Given the description of an element on the screen output the (x, y) to click on. 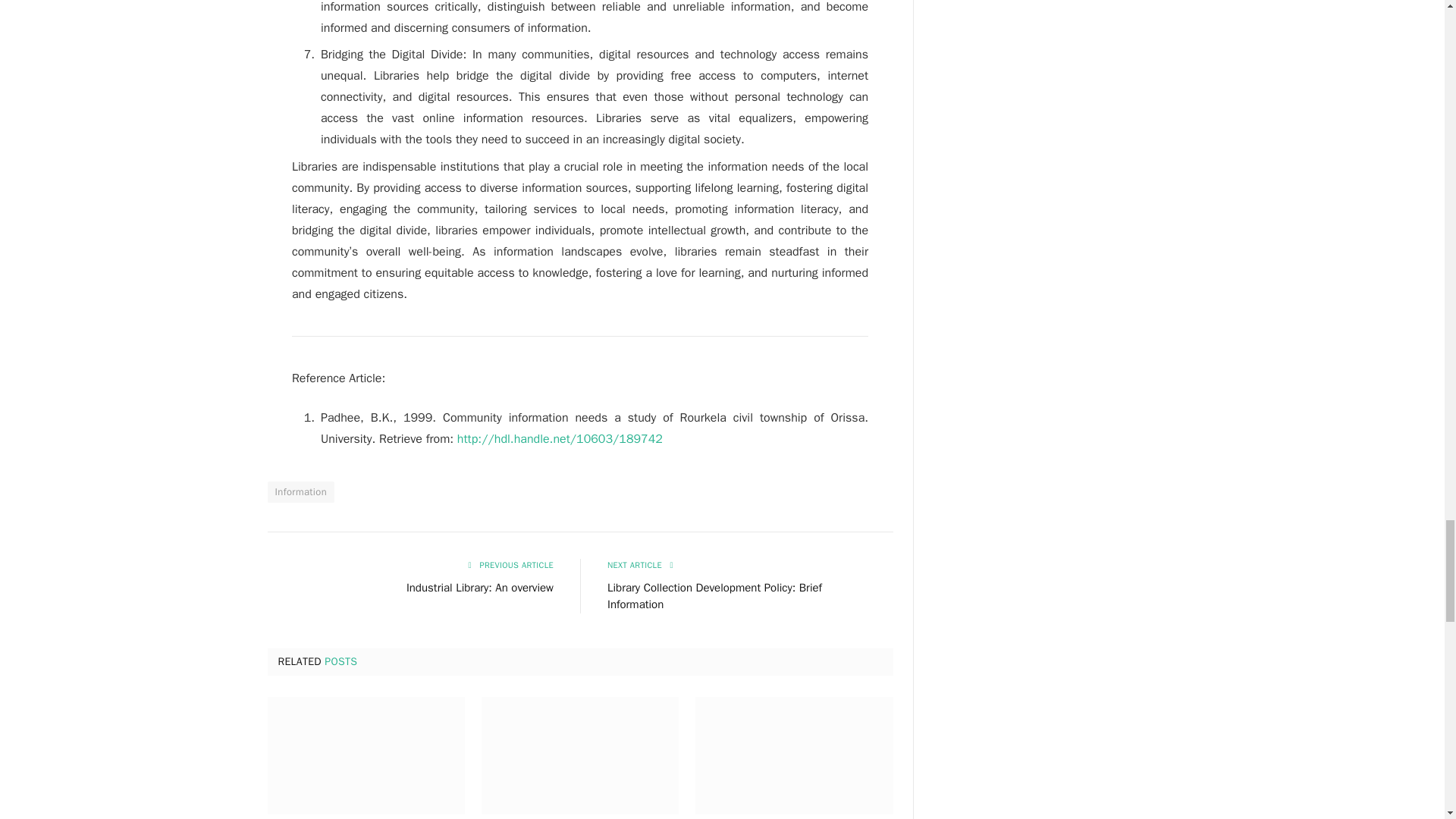
Information (300, 491)
